Given the description of an element on the screen output the (x, y) to click on. 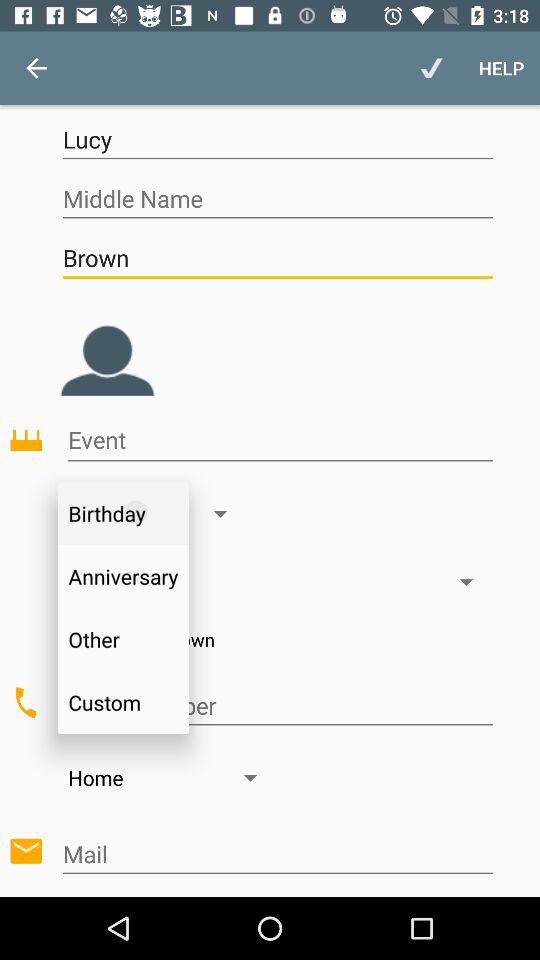
click the item to the left of help (431, 67)
